Given the description of an element on the screen output the (x, y) to click on. 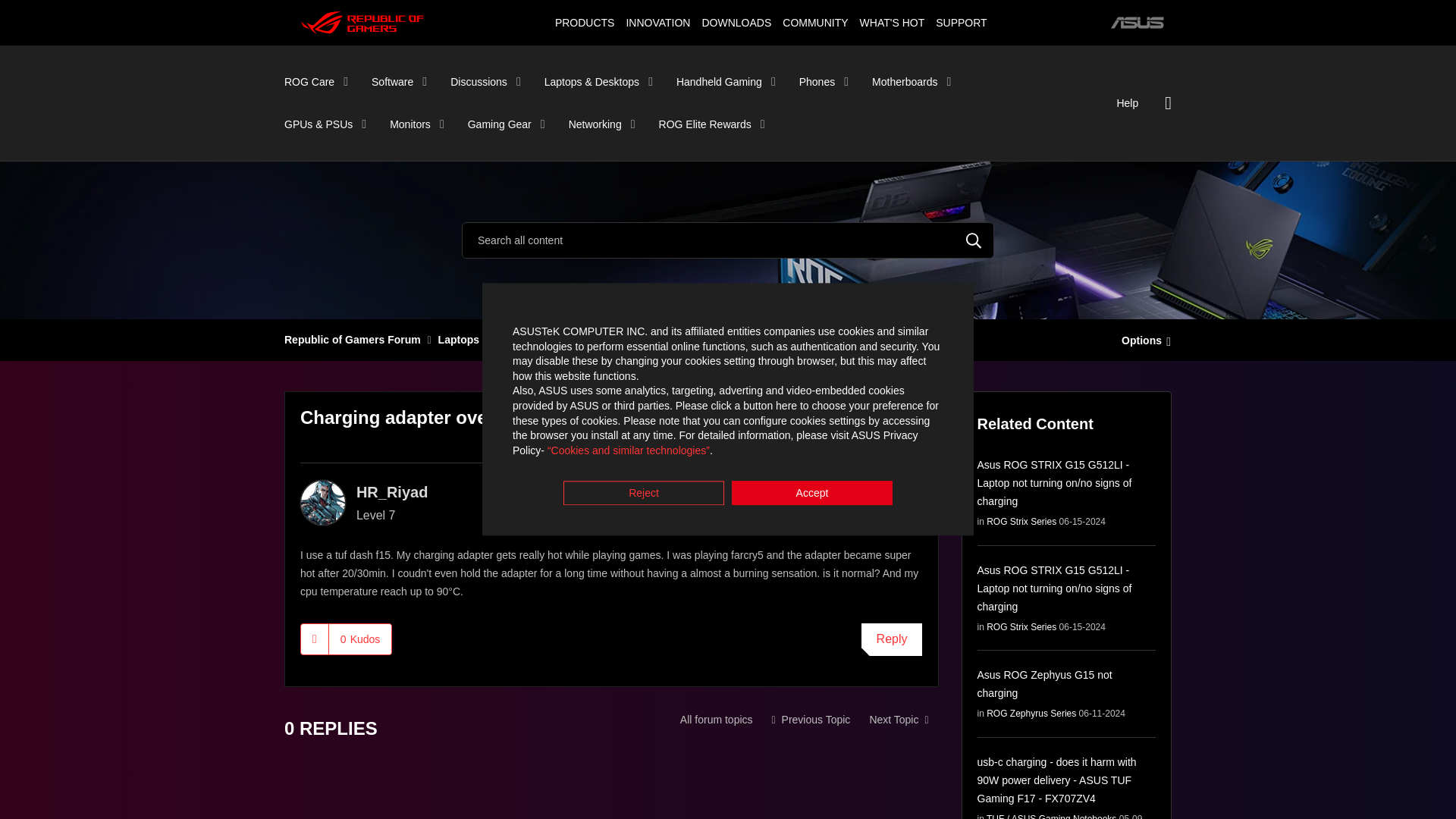
PRODUCTS (584, 22)
Search (727, 239)
Click here to give kudos to this post. (315, 639)
TUF FX507ZC UPDATE BIOS 318 PROBLEM (898, 719)
COMMUNITY (815, 22)
Search (973, 239)
DOWNLOADS (736, 22)
INNOVATION (657, 22)
Show option menu (1142, 339)
The total number of kudos this post has received. (360, 639)
Search (973, 239)
